Given the description of an element on the screen output the (x, y) to click on. 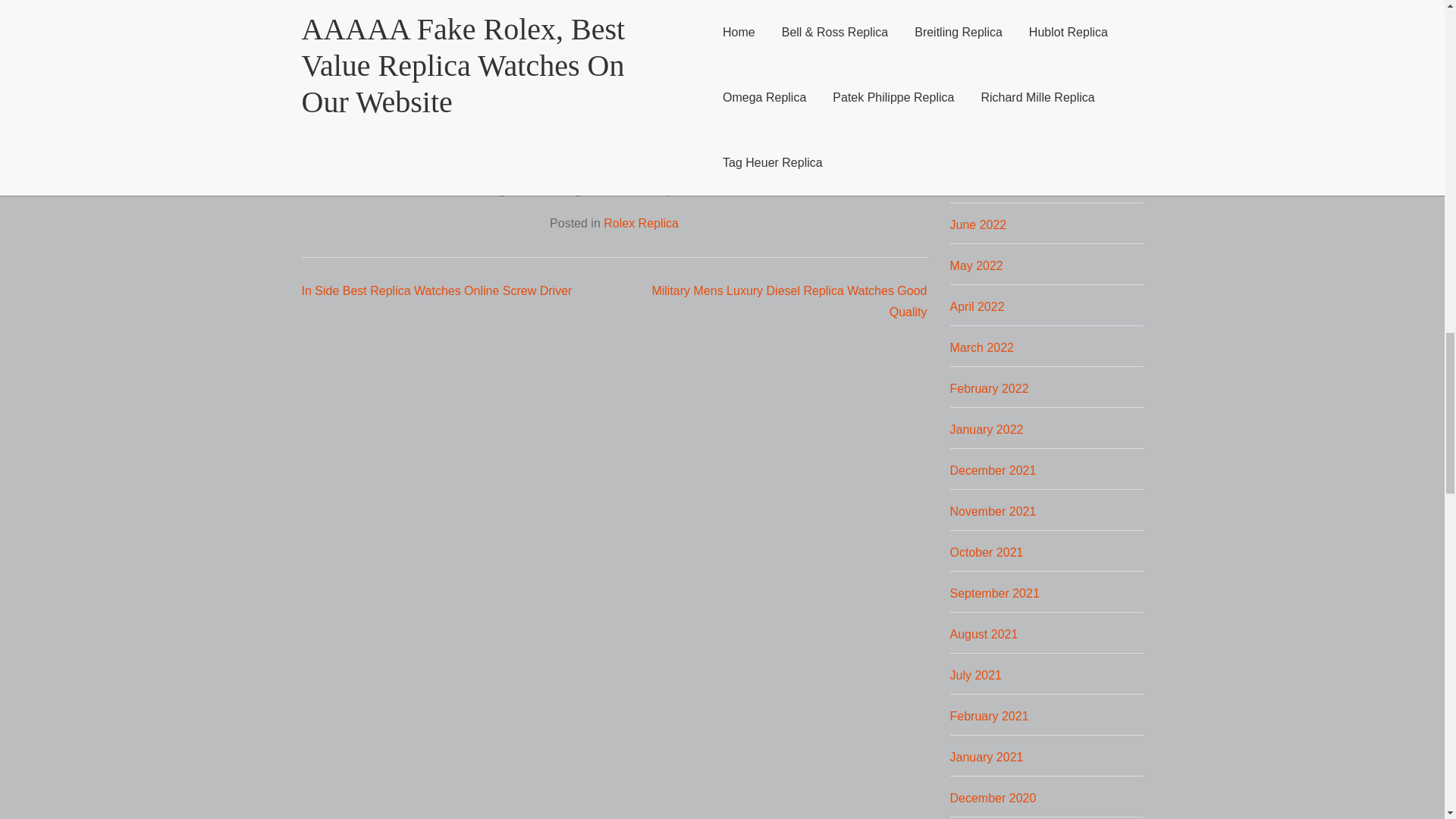
June 2022 (977, 224)
May 2022 (976, 265)
November 2022 (992, 19)
In Side Best Replica Watches Online Screw Driver (436, 290)
April 2022 (976, 306)
September 2022 (994, 101)
July 2022 (975, 183)
August 2022 (983, 142)
Military Mens Luxury Diesel Replica Watches Good Quality (788, 301)
October 2022 (986, 60)
